Given the description of an element on the screen output the (x, y) to click on. 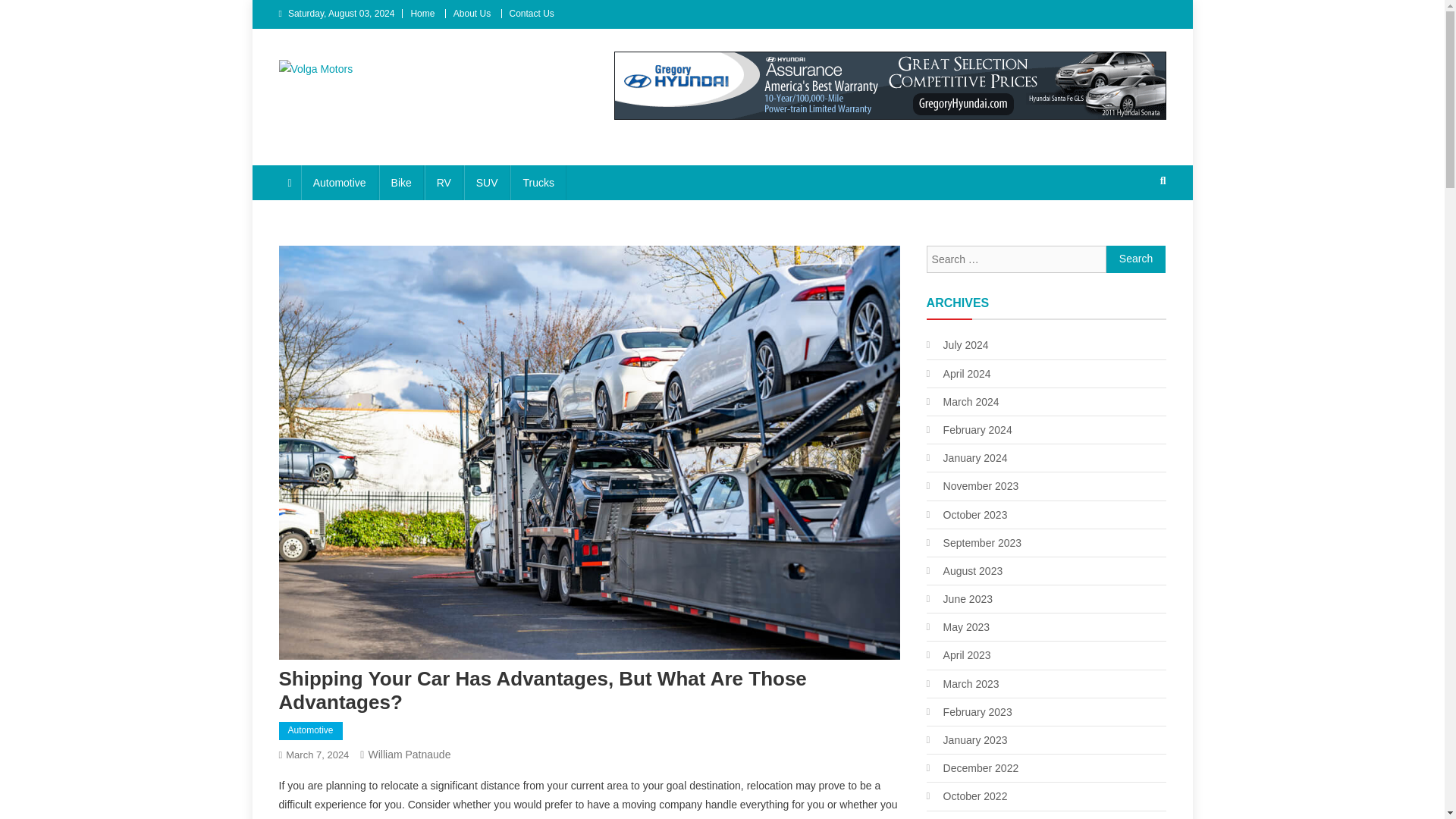
Search (1136, 258)
Automotive (310, 730)
Home (421, 13)
Contact Us (531, 13)
March 2024 (962, 401)
Trucks (538, 182)
Search (1136, 258)
July 2024 (957, 344)
RV (444, 182)
Search (1133, 230)
Search (1136, 258)
January 2024 (966, 457)
February 2024 (968, 429)
Volga Motors (354, 93)
SUV (487, 182)
